Given the description of an element on the screen output the (x, y) to click on. 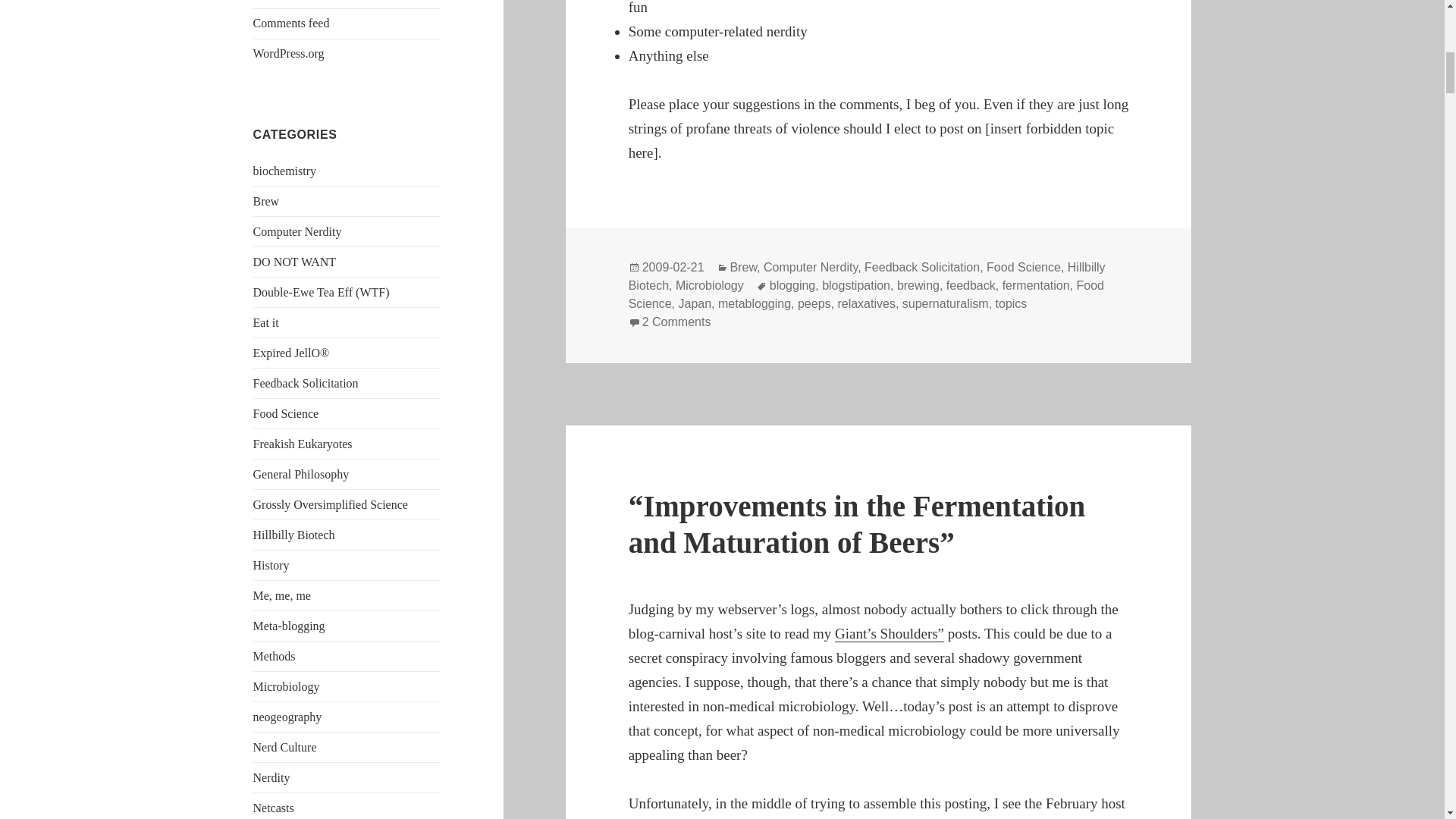
neogeography (287, 716)
Eat it (266, 322)
Feedback Solicitation (305, 382)
Comments feed (291, 22)
Me, me, me (282, 594)
Methods (274, 656)
Grossly Oversimplified Science (330, 504)
Meta-blogging (288, 625)
Netcasts (273, 807)
General Philosophy (301, 473)
